Given the description of an element on the screen output the (x, y) to click on. 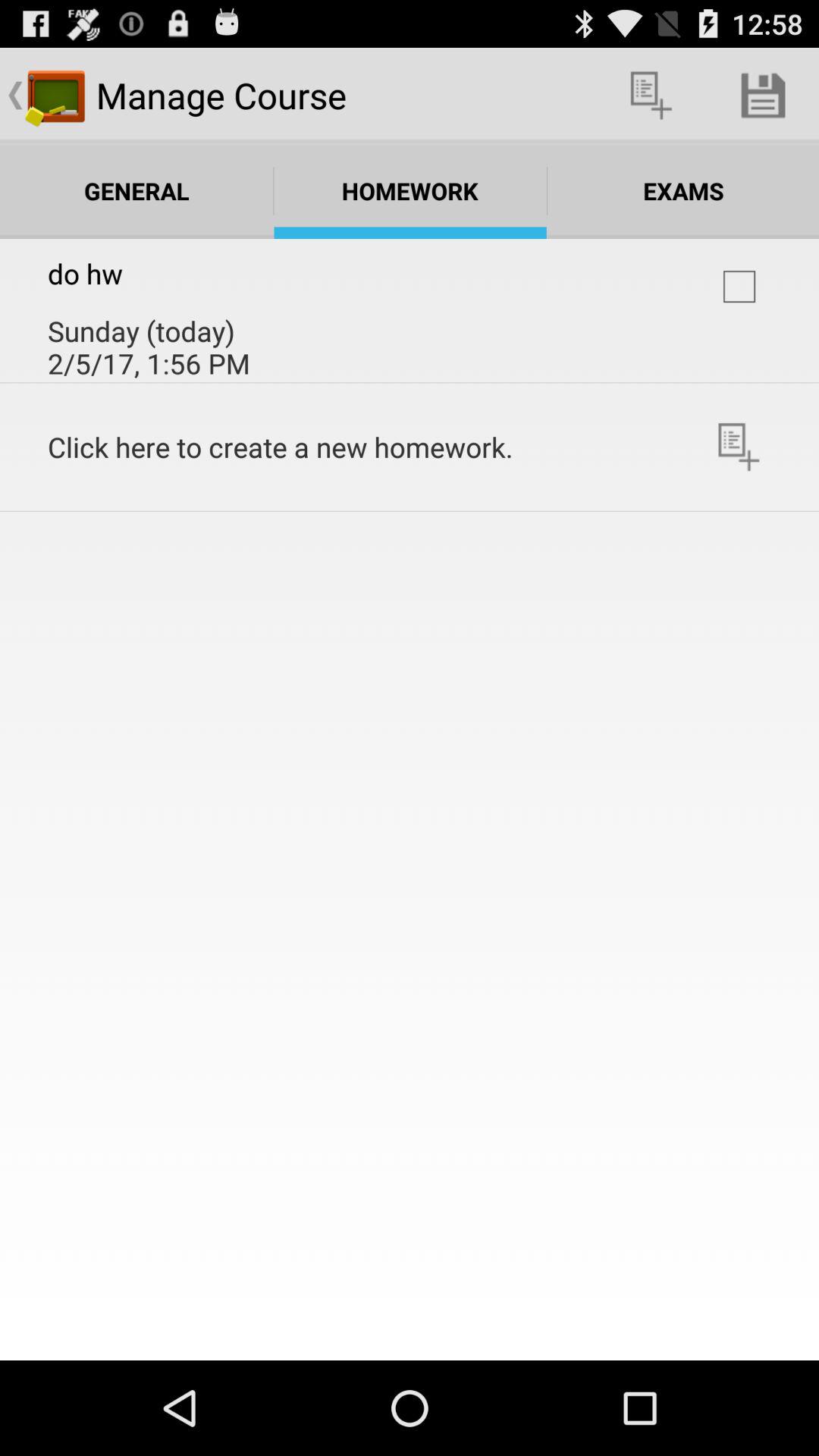
turn on icon above exams item (651, 95)
